Given the description of an element on the screen output the (x, y) to click on. 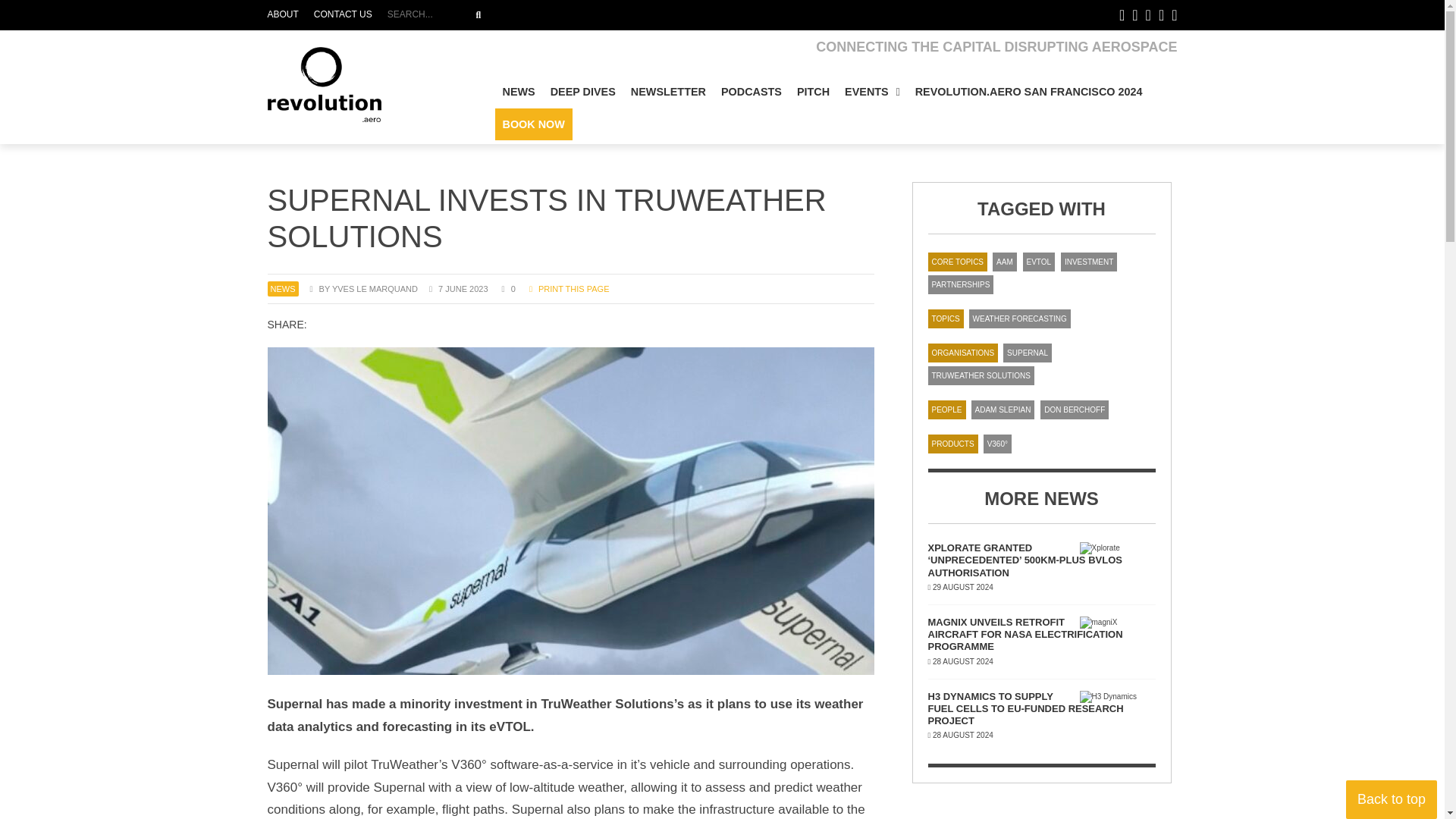
NEWSLETTER (668, 92)
ABOUT (285, 15)
Go to top (1391, 799)
REVOLUTION.AERO SAN FRANCISCO 2024 (1028, 92)
CONTACT US (342, 15)
PRINT THIS PAGE (478, 14)
BOOK NOW (569, 288)
PITCH (533, 124)
NEWS (813, 92)
